Given the description of an element on the screen output the (x, y) to click on. 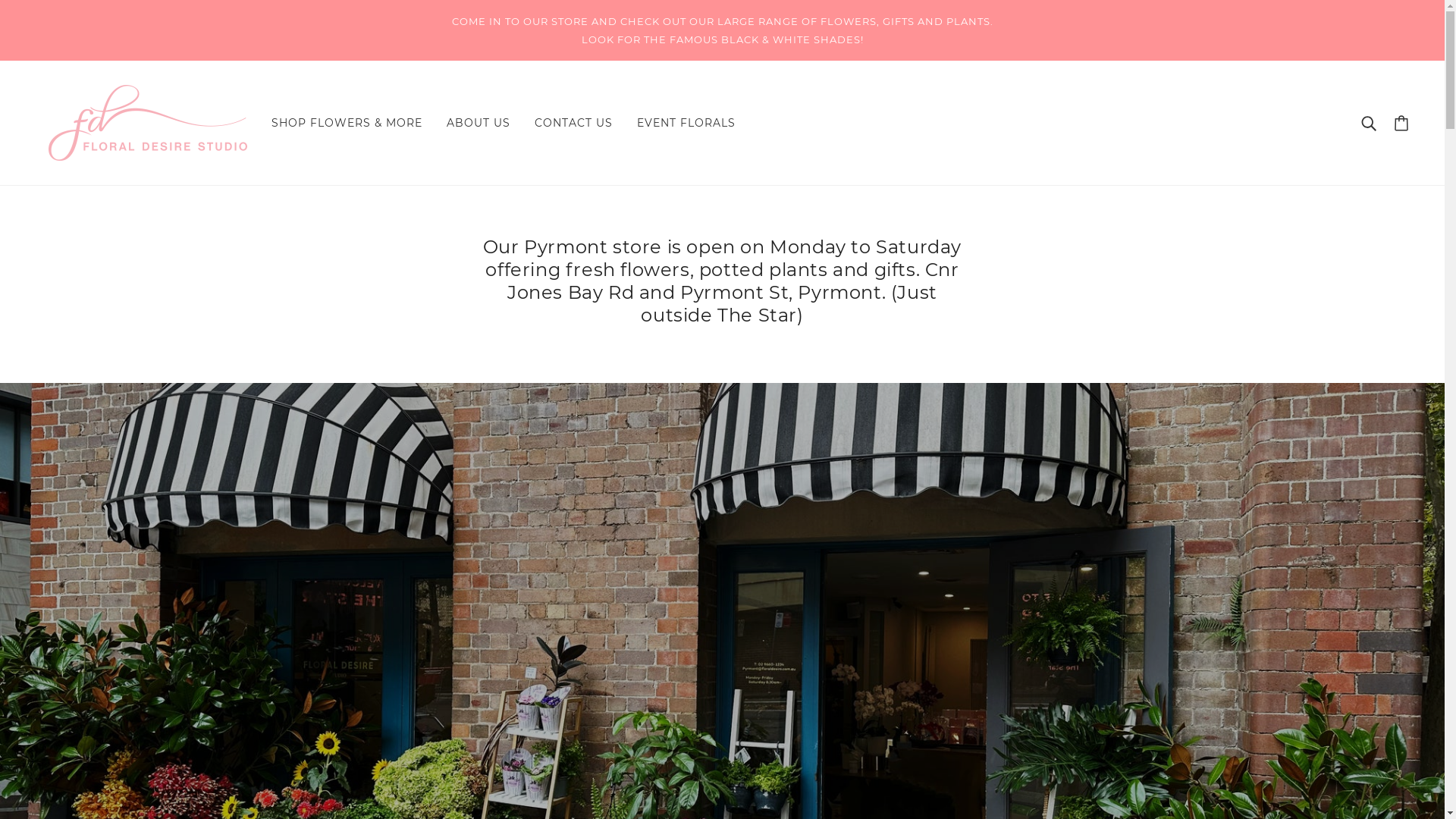
EVENT FLORALS Element type: text (685, 122)
CONTACT US Element type: text (573, 122)
SHOP FLOWERS & MORE Element type: text (346, 122)
/ Element type: hover (147, 121)
ABOUT US Element type: text (478, 122)
